Given the description of an element on the screen output the (x, y) to click on. 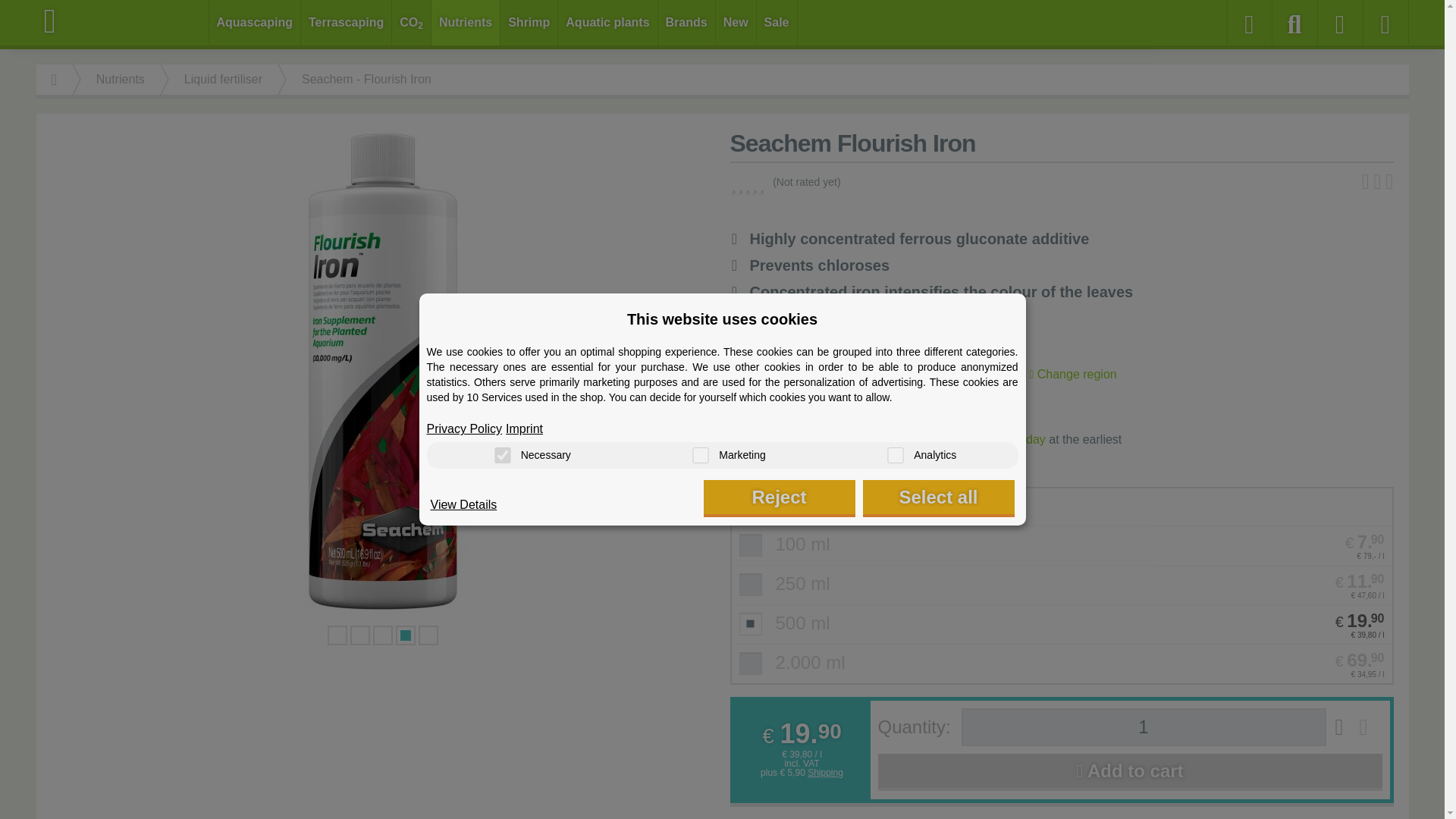
on (895, 455)
on (699, 455)
Aquasabi (123, 21)
on (501, 455)
Aquascaping (254, 22)
1 (1143, 727)
